Given the description of an element on the screen output the (x, y) to click on. 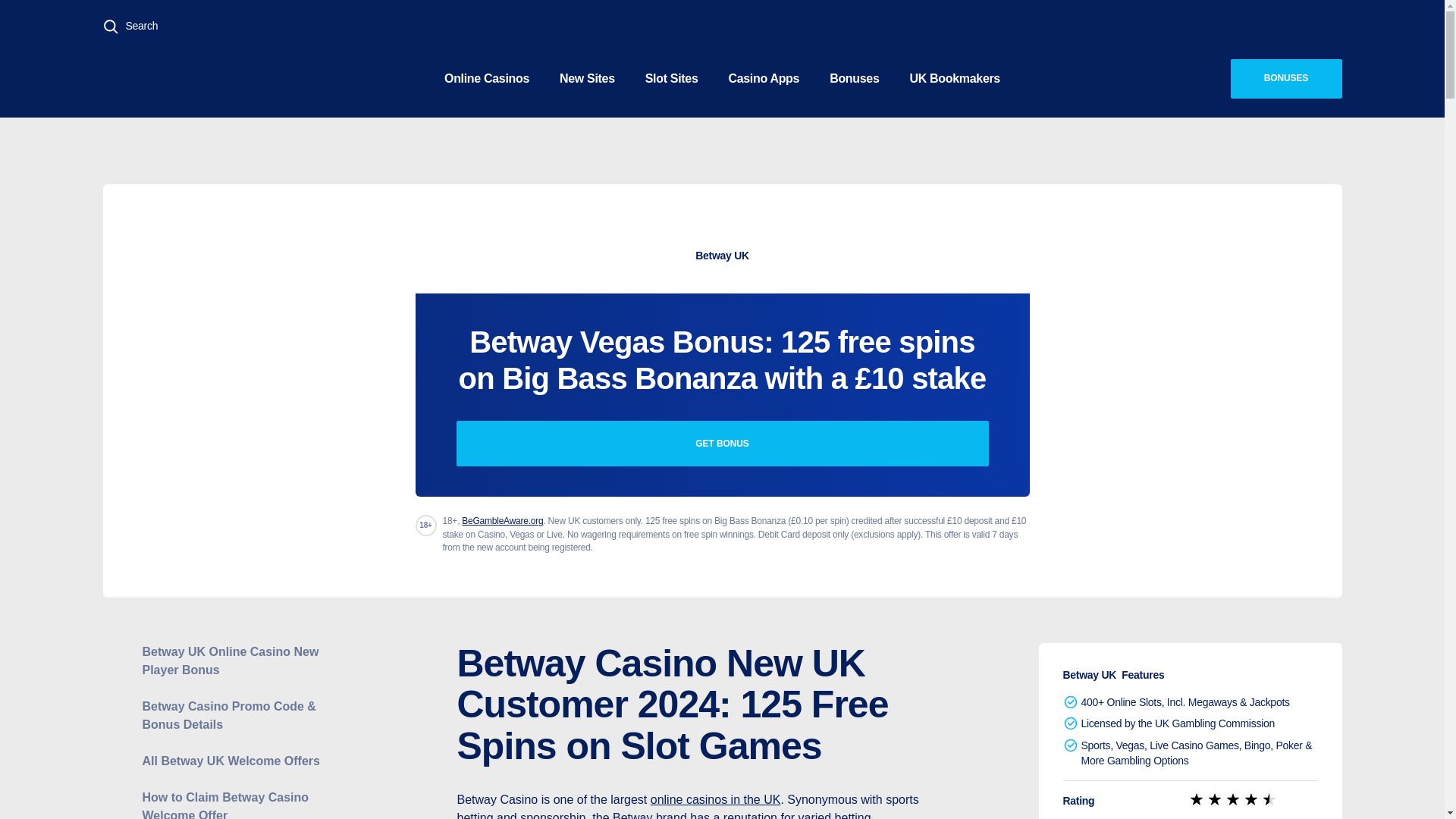
Online Casinos (486, 78)
Slot Sites (671, 78)
Casino Apps (763, 78)
All Betway UK Welcome Offers (241, 761)
UK Bookmakers (954, 78)
How to Claim Betway Casino Welcome Offer (241, 803)
BONUSES (1285, 78)
Betway UK Online Casino New Player Bonus (241, 660)
Betway UK Casino - aGamble.com (721, 187)
GET BONUS (722, 443)
BeGambleAware.org (502, 520)
Bonuses (853, 78)
New Sites (587, 78)
online casinos in the UK (715, 799)
